Given the description of an element on the screen output the (x, y) to click on. 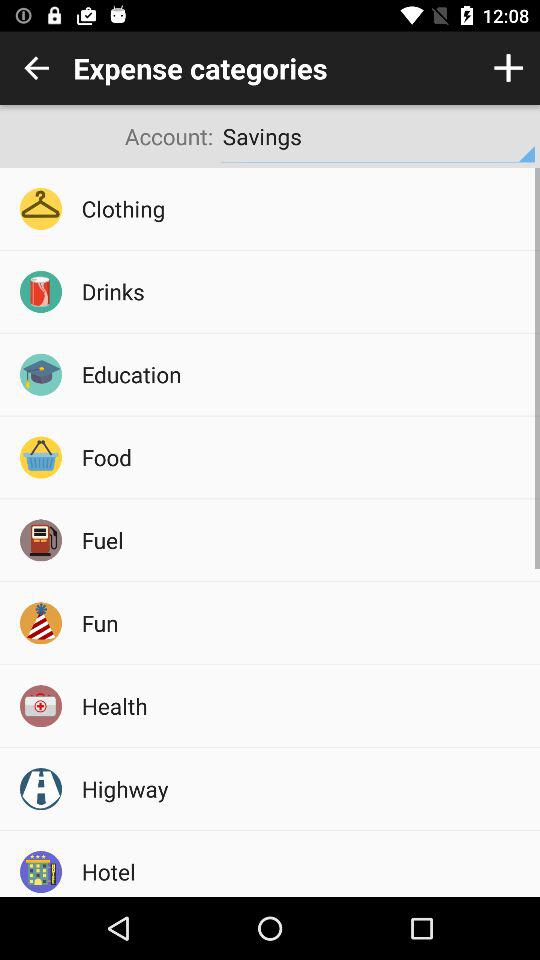
click on icon with road (40, 789)
select the right side of account (378, 136)
 icon right to the header text (508, 68)
